Given the description of an element on the screen output the (x, y) to click on. 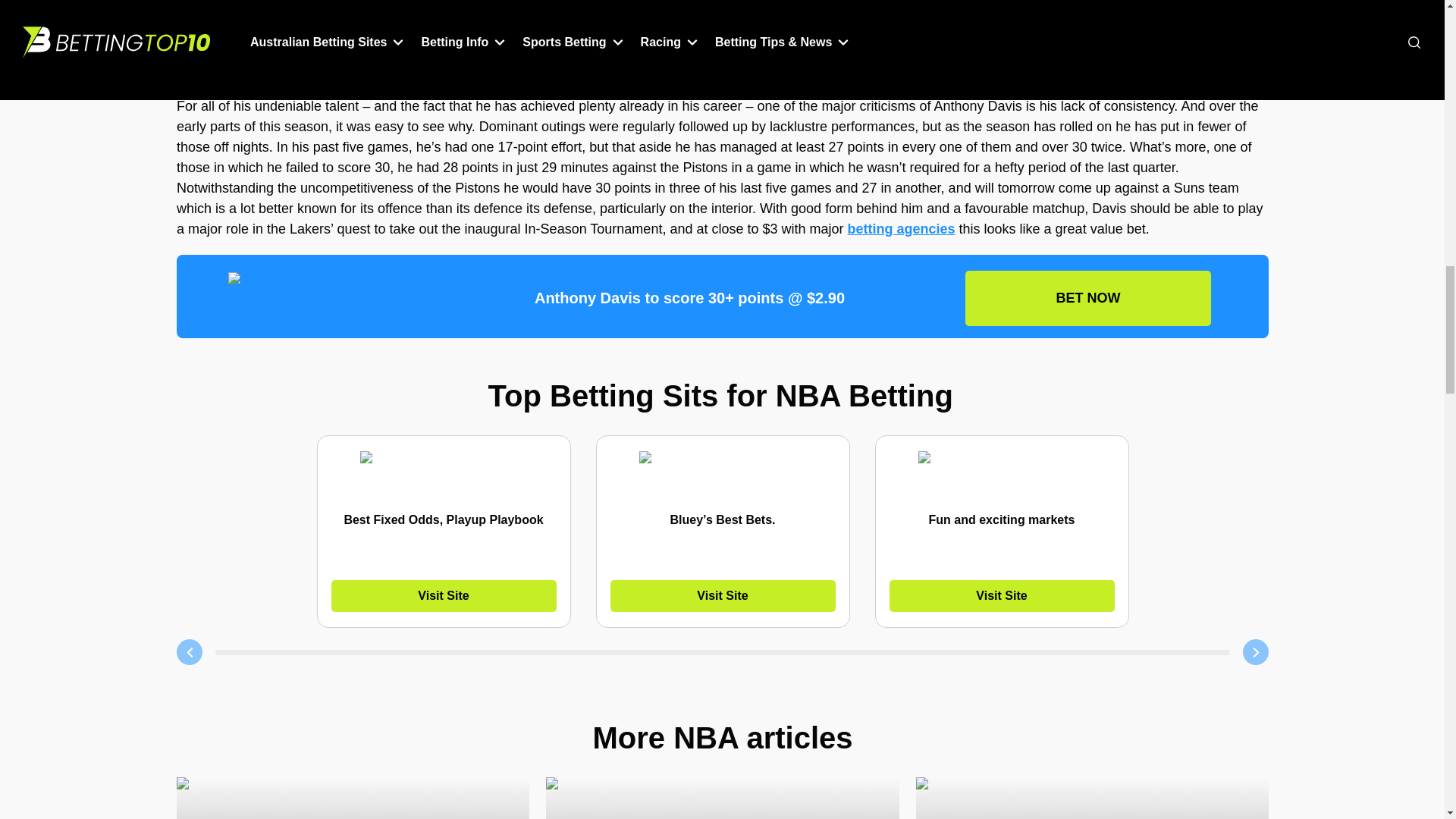
playup-black (320, 297)
bluebet (722, 474)
getsetbet (1000, 474)
NBA Multibet of the Weekend (352, 798)
NBA Multibet of the Weekend (1091, 798)
playup-white (442, 474)
